Given the description of an element on the screen output the (x, y) to click on. 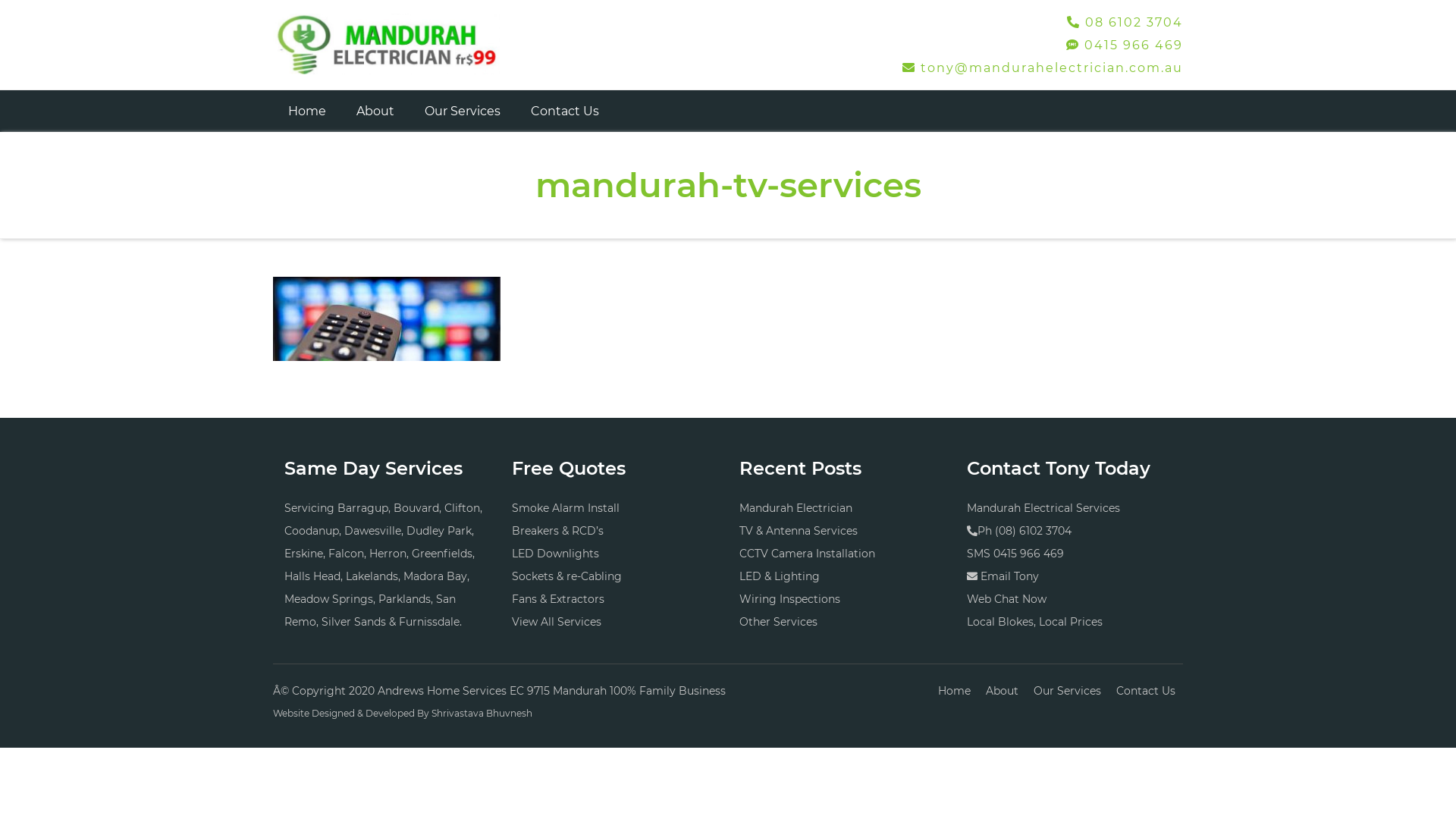
Shrivastava Bhuvnesh Element type: text (481, 712)
About Element type: text (375, 110)
Home Element type: text (954, 690)
LED & Lighting Element type: text (779, 576)
About Element type: text (1002, 690)
TV & Antenna Services Element type: text (798, 530)
Email Tony Element type: text (1009, 576)
View All Services Element type: text (556, 621)
0415 966 469 Element type: text (1028, 553)
(08) 6102 3704 Element type: text (1032, 530)
Our Services Element type: text (1067, 690)
Our Services Element type: text (462, 110)
Contact Us Element type: text (564, 110)
Contact Us Element type: text (1145, 690)
Other Services Element type: text (778, 621)
Web Chat Now Element type: text (1006, 598)
0415 966 469 Element type: text (1124, 44)
CCTV Camera Installation Element type: text (807, 553)
Mandurah Electrician Element type: text (795, 507)
Wiring Inspections Element type: text (789, 598)
Home Element type: text (307, 110)
tony@mandurahelectrician.com.au Element type: text (1042, 67)
08 6102 3704 Element type: text (1124, 22)
